Given the description of an element on the screen output the (x, y) to click on. 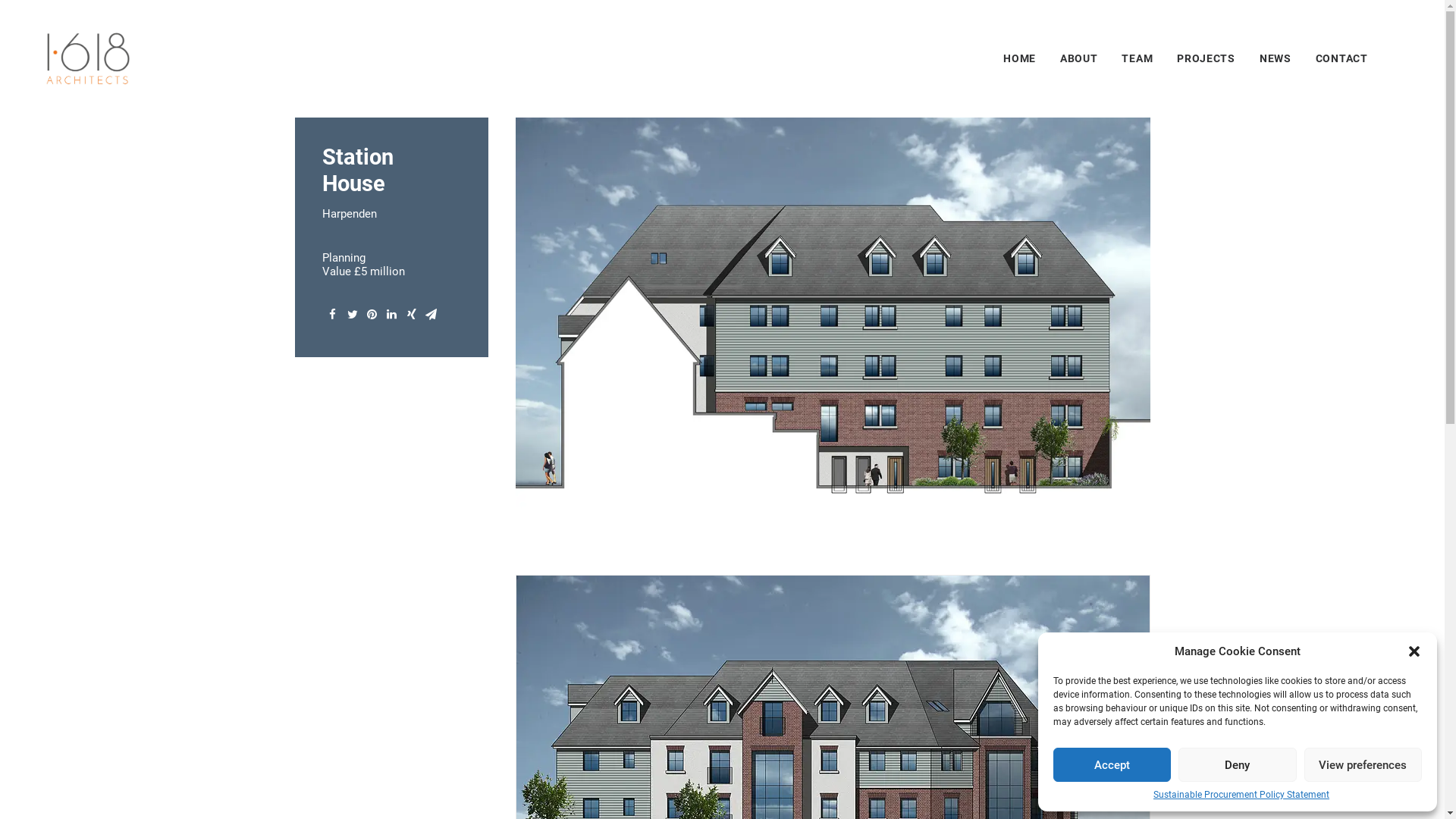
ABOUT Element type: text (1078, 58)
Accept Element type: text (1111, 764)
CONTACT Element type: text (1336, 58)
PROJECTS Element type: text (1205, 58)
NEWS Element type: text (1275, 58)
TEAM Element type: text (1136, 58)
Sustainable Procurement Policy Statement Element type: text (1241, 794)
HOME Element type: text (1024, 58)
View preferences Element type: text (1362, 764)
Deny Element type: text (1236, 764)
